Given the description of an element on the screen output the (x, y) to click on. 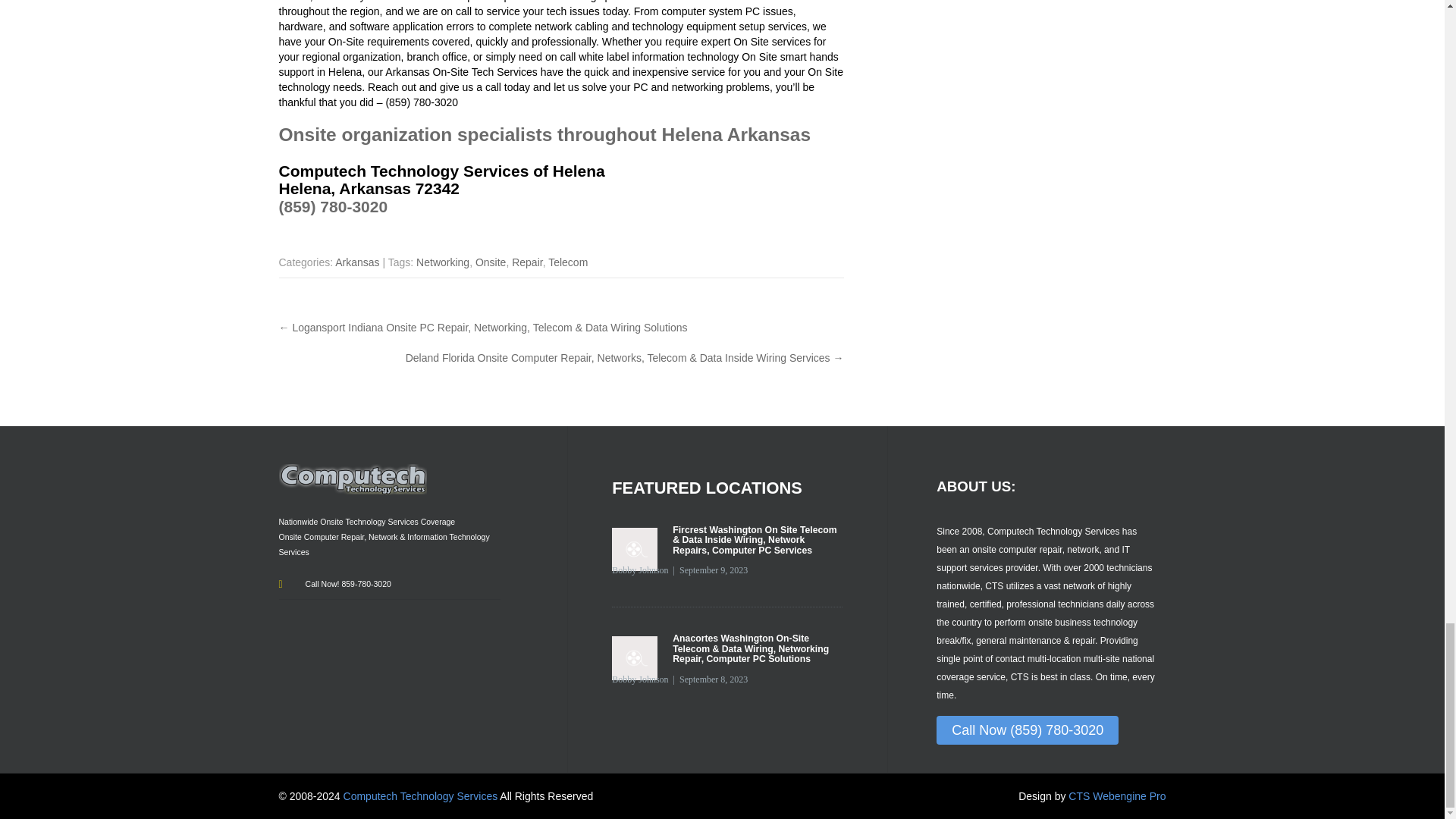
View all posts in Arkansas (356, 262)
